Given the description of an element on the screen output the (x, y) to click on. 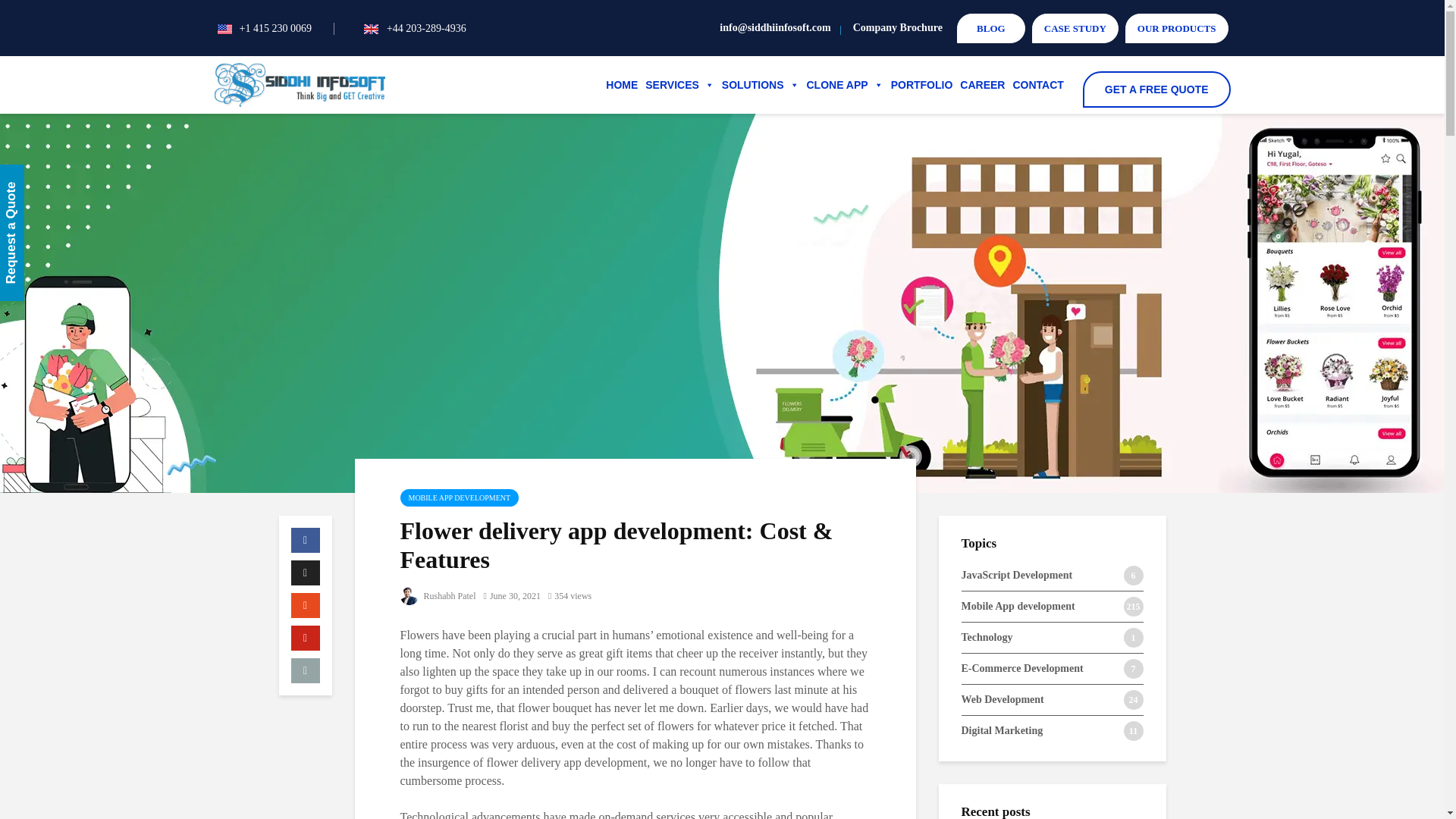
SERVICES (679, 84)
CASE STUDY (1075, 28)
Company Brochure (897, 27)
OUR PRODUCTS (1176, 28)
BLOG (990, 28)
